Given the description of an element on the screen output the (x, y) to click on. 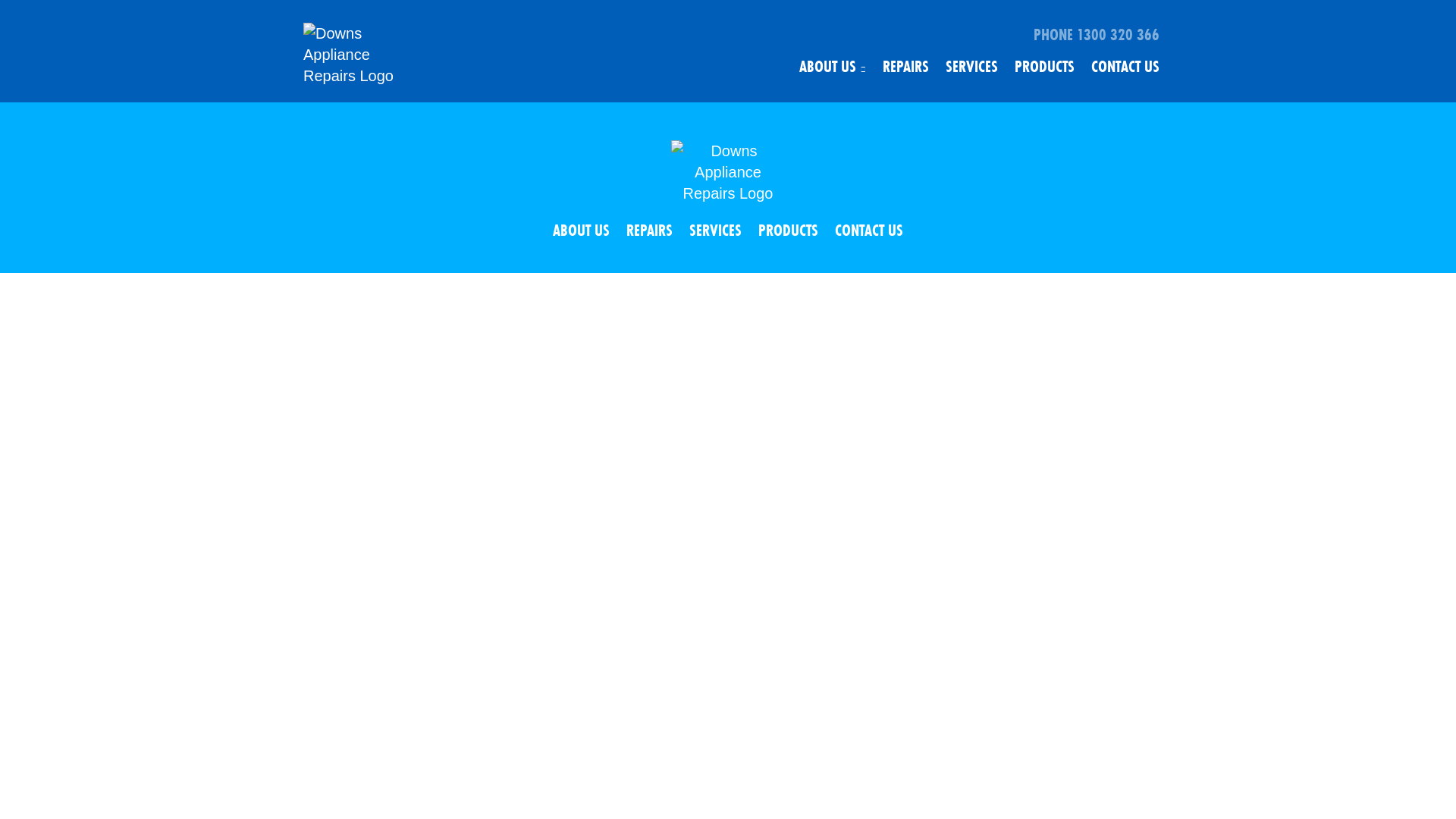
PHONE 1300 320 366 Element type: text (841, 31)
SERVICES Element type: text (971, 67)
CONTACT US Element type: text (1124, 67)
SERVICES Element type: text (714, 230)
REPAIRS Element type: text (905, 67)
REPAIRS Element type: text (649, 230)
CONTACT US Element type: text (868, 230)
PRODUCTS Element type: text (787, 230)
ABOUT US Element type: text (832, 67)
PRODUCTS Element type: text (1044, 67)
ABOUT US Element type: text (581, 230)
